Given the description of an element on the screen output the (x, y) to click on. 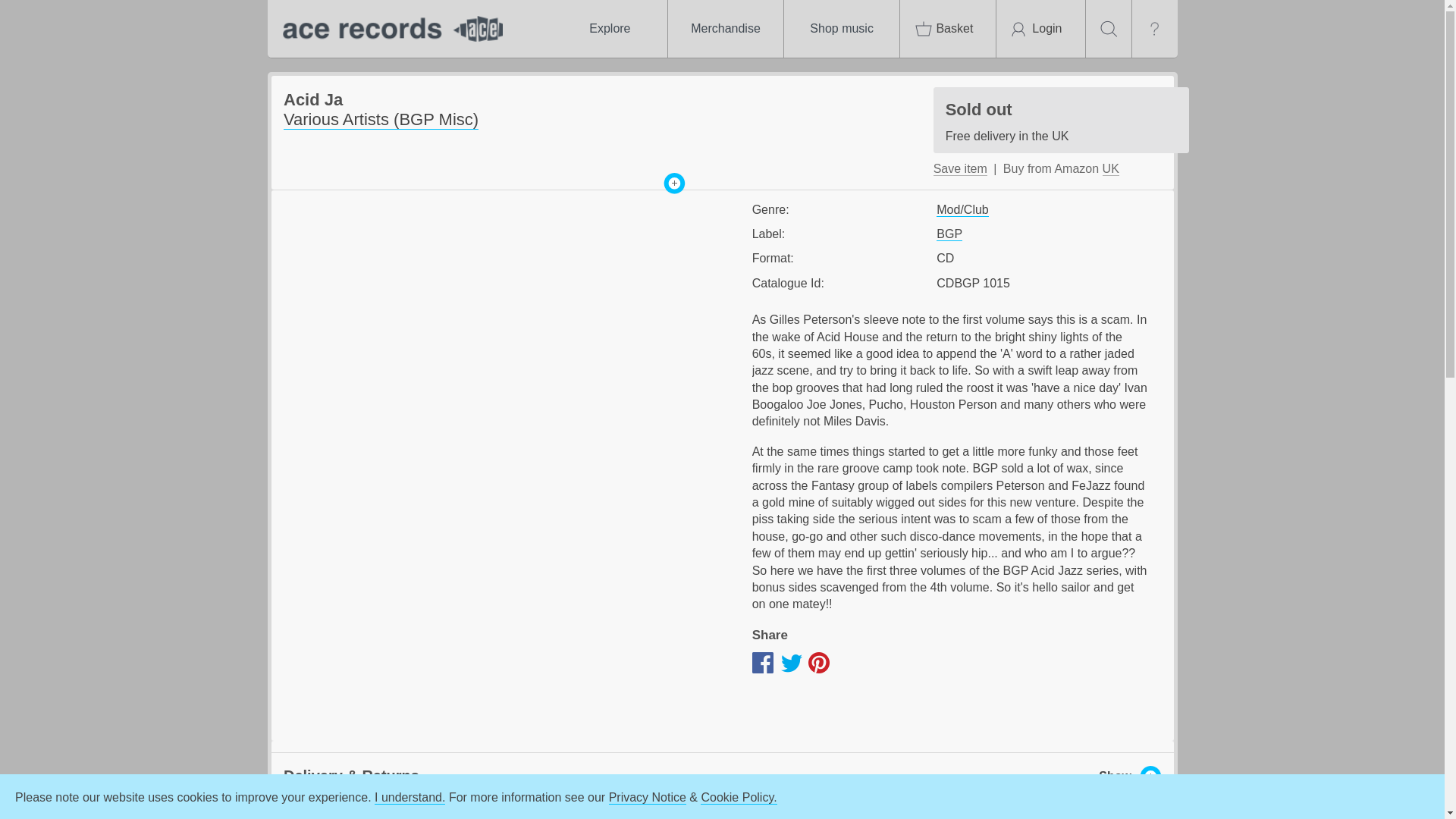
Ace Records (388, 28)
Save item (1061, 119)
Shop music (960, 169)
UK (841, 28)
Explore (1110, 169)
BGP (609, 28)
Basket (949, 233)
Merchandise (947, 28)
Login (725, 28)
